Given the description of an element on the screen output the (x, y) to click on. 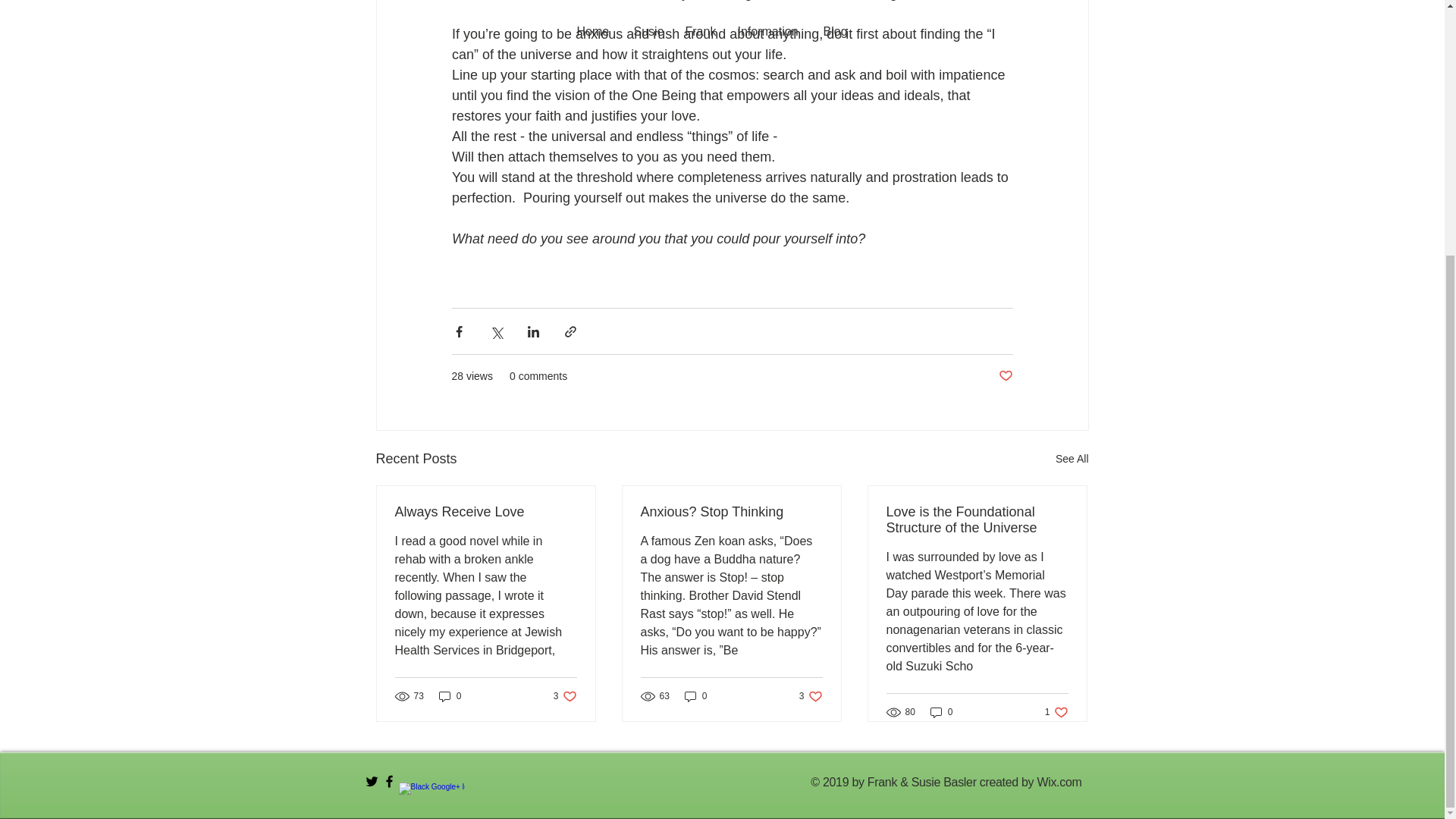
See All (1072, 458)
Wix.com (1058, 781)
0 (941, 712)
Anxious? Stop Thinking (731, 512)
0 (450, 695)
Love is the Foundational Structure of the Universe (810, 695)
Always Receive Love (976, 520)
Post not marked as liked (485, 512)
0 (1004, 376)
